Given the description of an element on the screen output the (x, y) to click on. 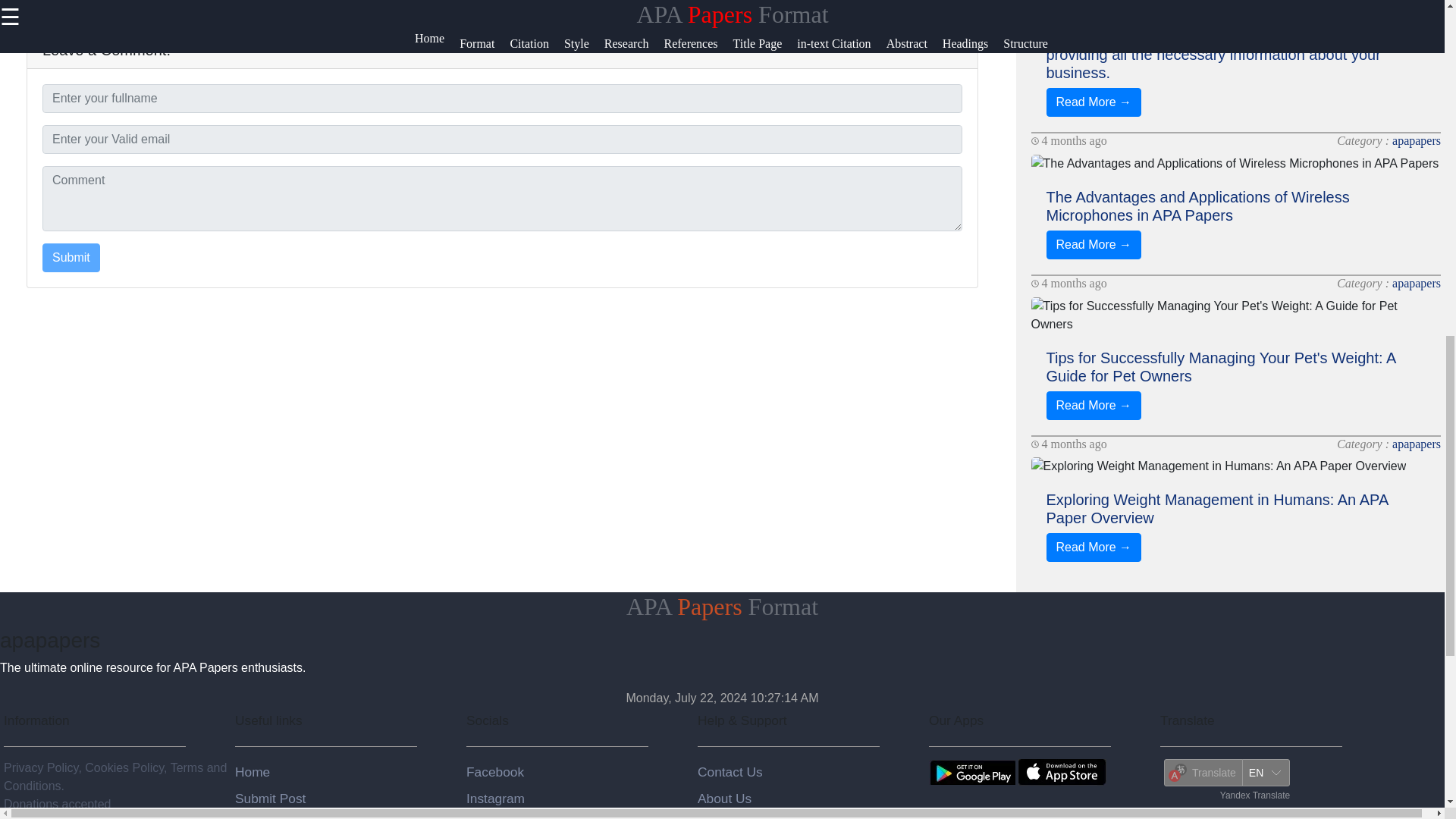
Submit (71, 257)
